Given the description of an element on the screen output the (x, y) to click on. 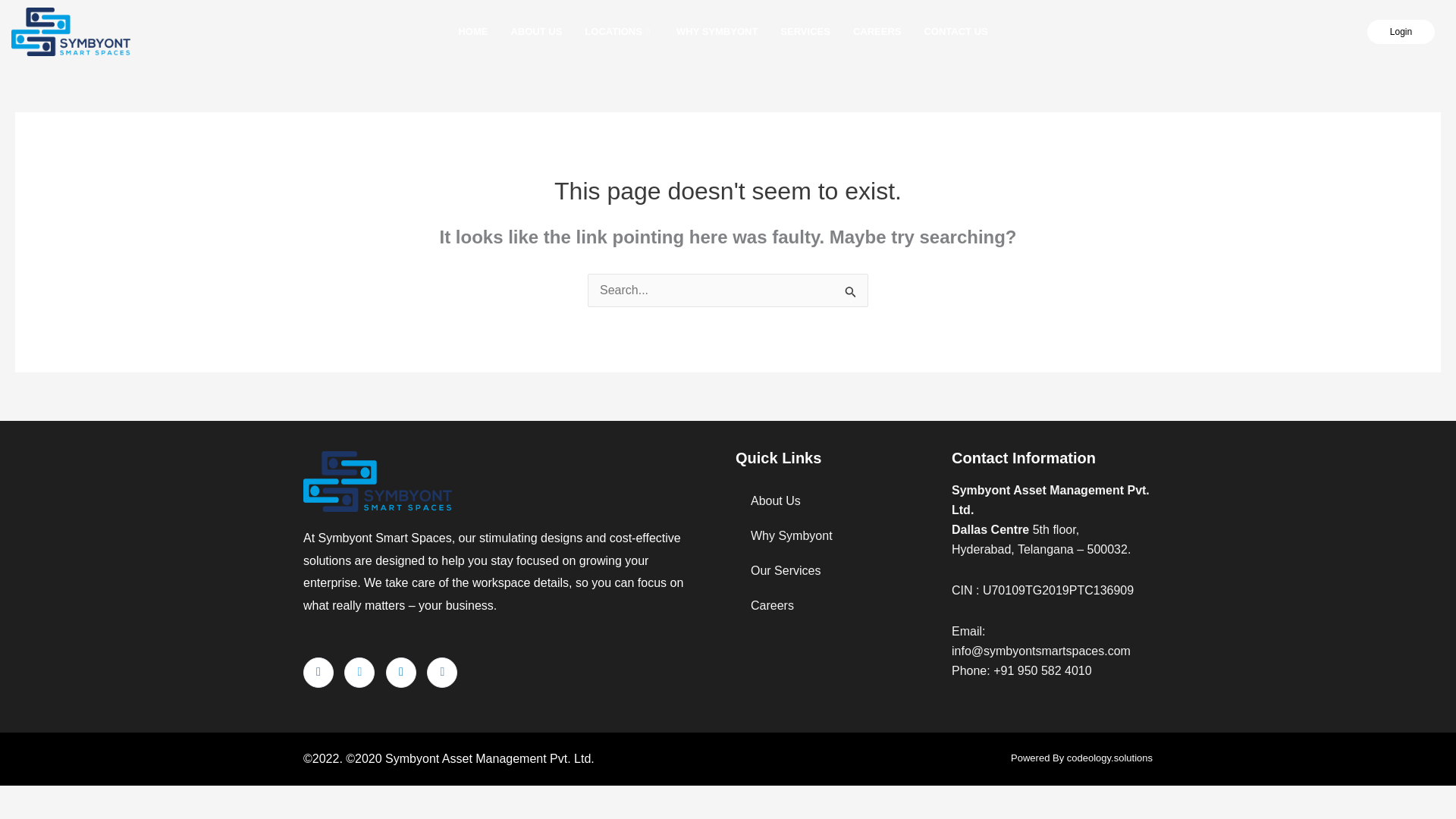
CONTACT US (955, 31)
Why Symbyont (835, 535)
WHY SYMBYONT (716, 31)
Login (1400, 31)
CAREERS (876, 31)
Our Services (835, 570)
ABOUT US (536, 31)
LOCATIONS (619, 31)
HOME (472, 31)
Careers (835, 605)
SERVICES (804, 31)
About Us (835, 501)
